Given the description of an element on the screen output the (x, y) to click on. 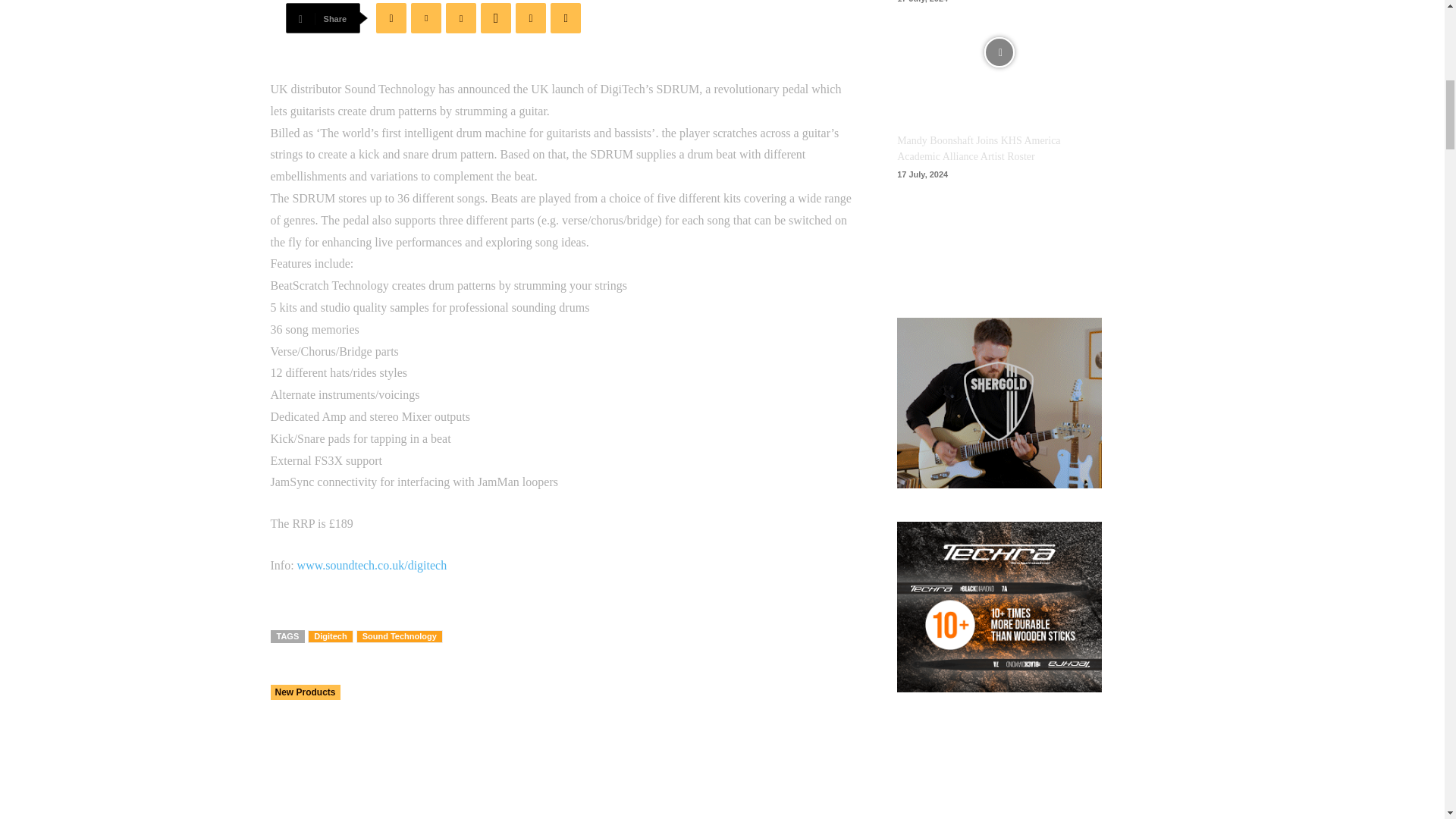
WhatsApp (495, 18)
Twitter (425, 18)
Facebook (390, 18)
Email (565, 18)
Pinterest (460, 18)
Linkedin (530, 18)
